Given the description of an element on the screen output the (x, y) to click on. 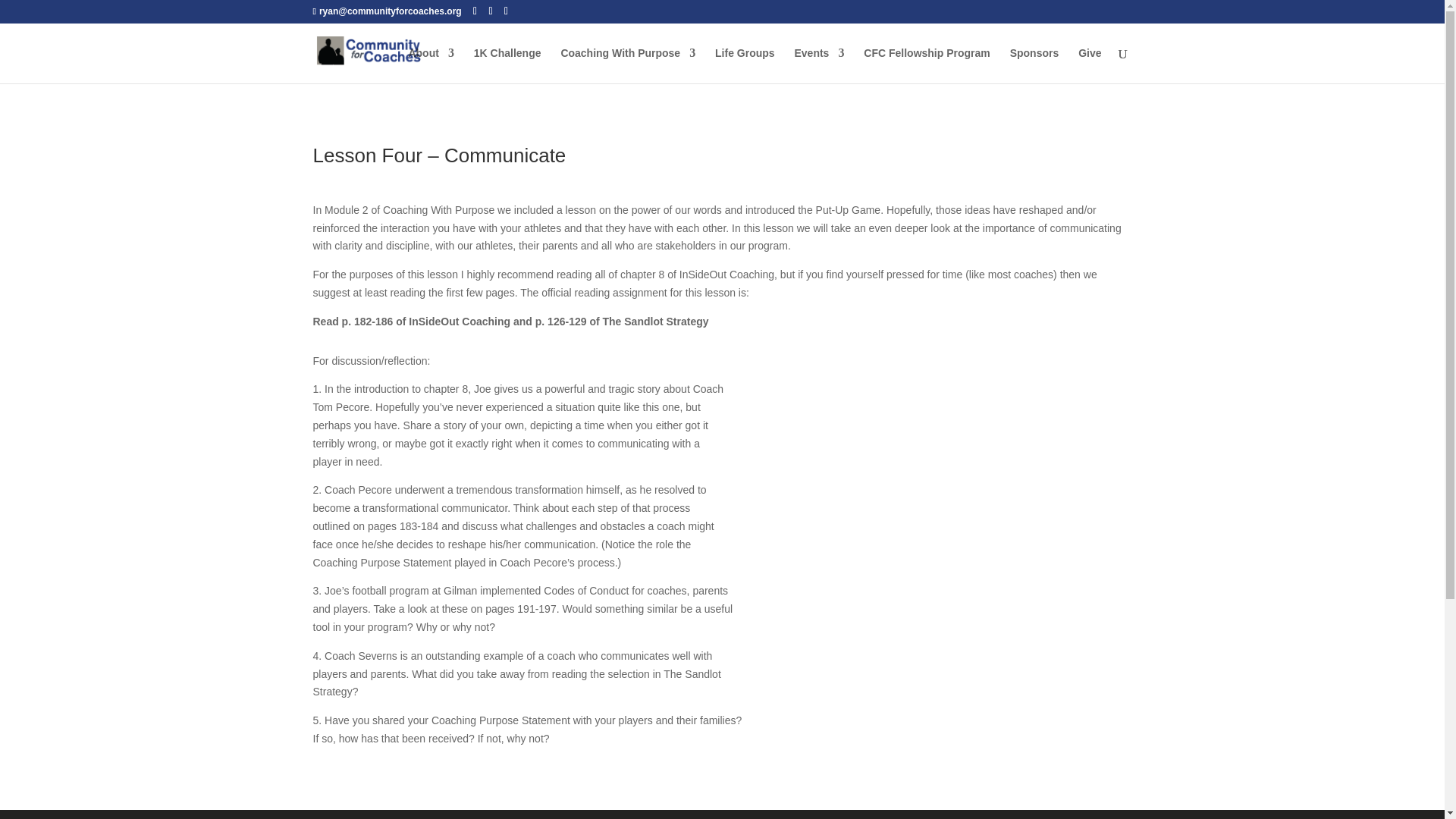
CFC Fellowship Program (926, 65)
Life Groups (744, 65)
Events (819, 65)
1K Challenge (507, 65)
About (429, 65)
Sponsors (1034, 65)
Coaching With Purpose (627, 65)
